Given the description of an element on the screen output the (x, y) to click on. 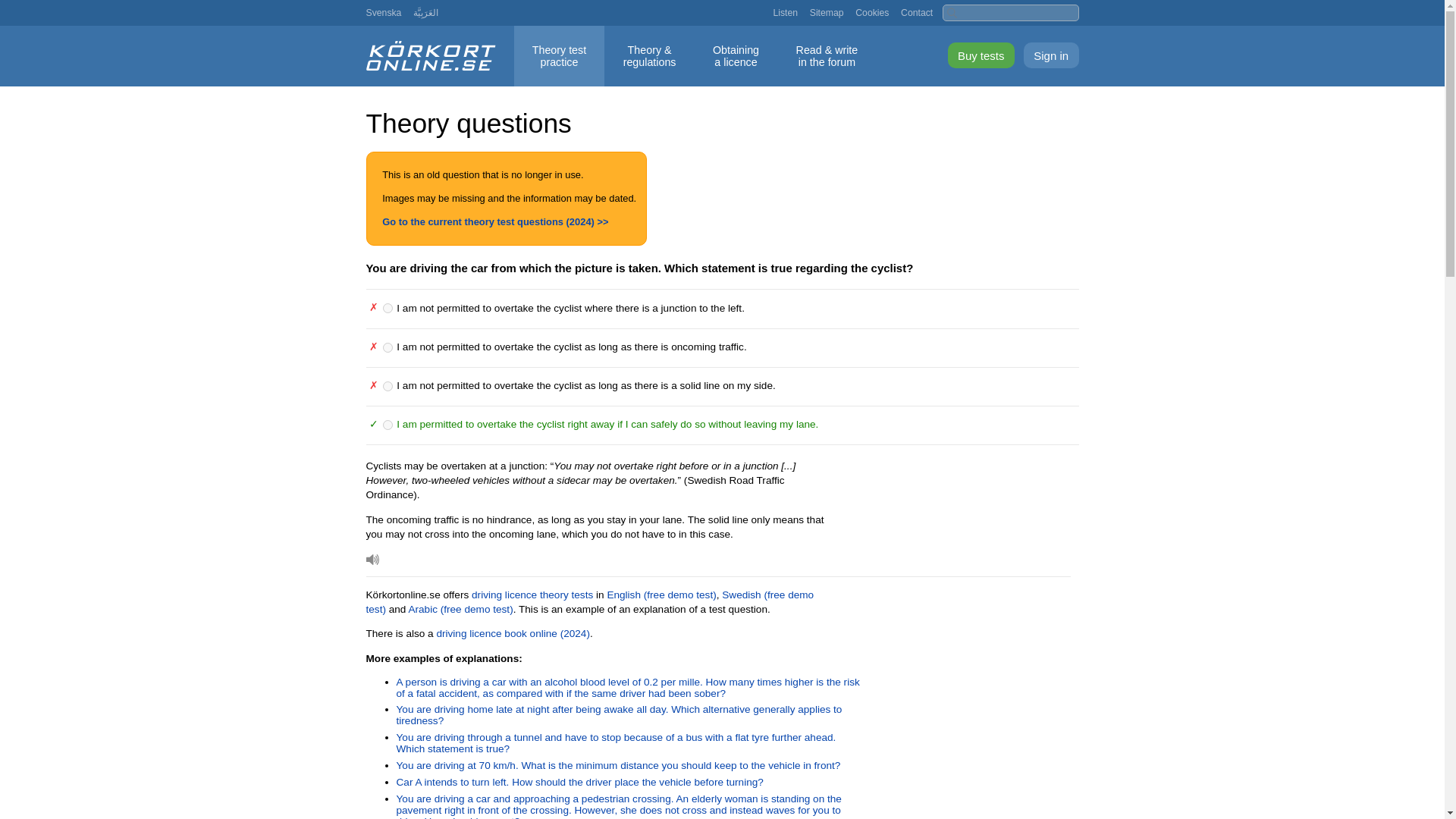
3528 (387, 347)
Svenska (383, 12)
Listen (371, 559)
Buy tests (980, 54)
Cookies (872, 12)
Listen (735, 55)
3529 (785, 12)
driving licence theory tests (387, 386)
Contact (531, 594)
